Given the description of an element on the screen output the (x, y) to click on. 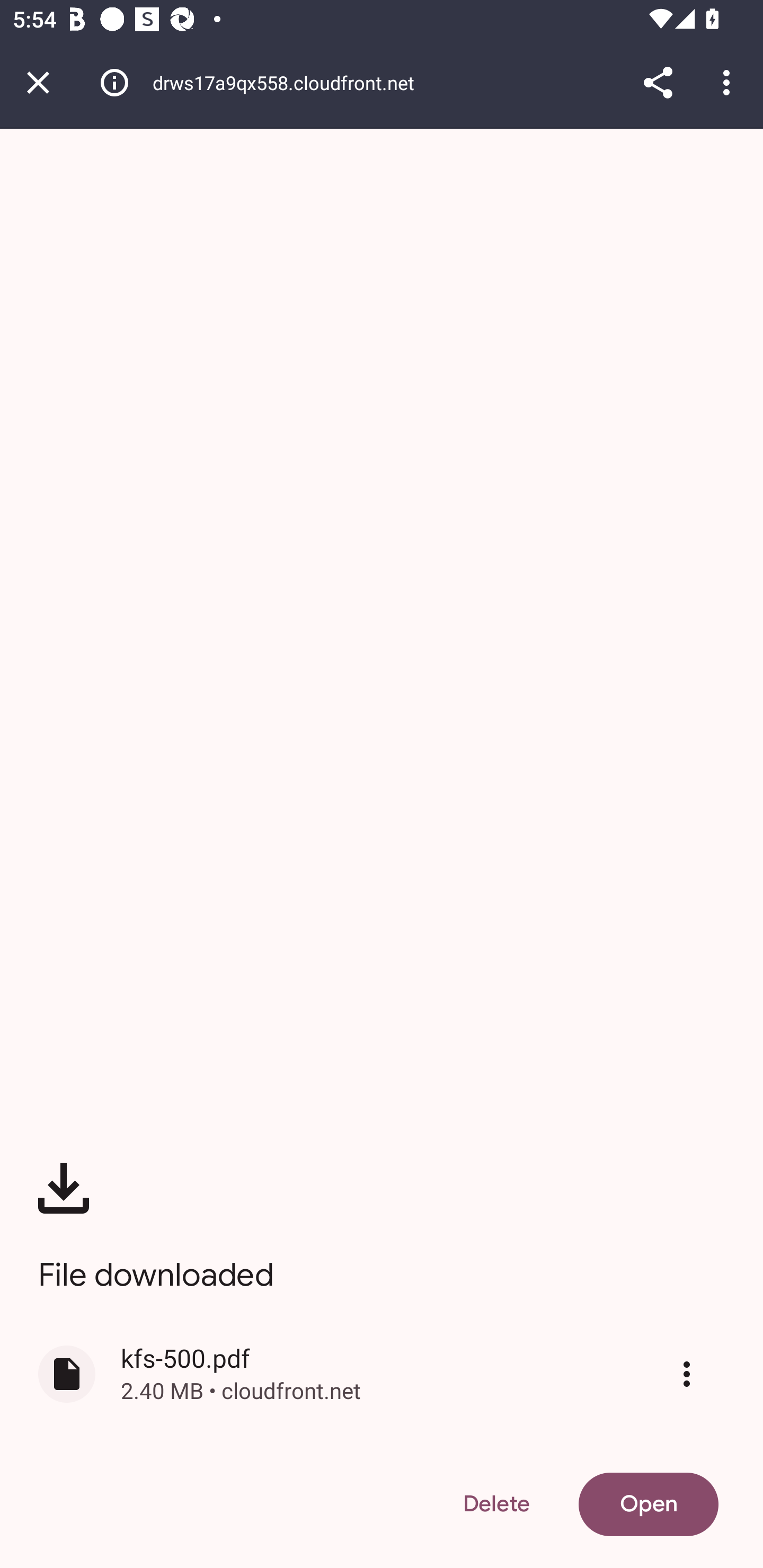
Close tab (38, 82)
Share (657, 82)
Customize and control Google Chrome (729, 82)
Your connection to this site is not secure (114, 81)
drws17a9qx558.cloudfront.net (289, 81)
Customize and control Google Chrome (686, 1373)
Delete (495, 1504)
Open (648, 1504)
